Given the description of an element on the screen output the (x, y) to click on. 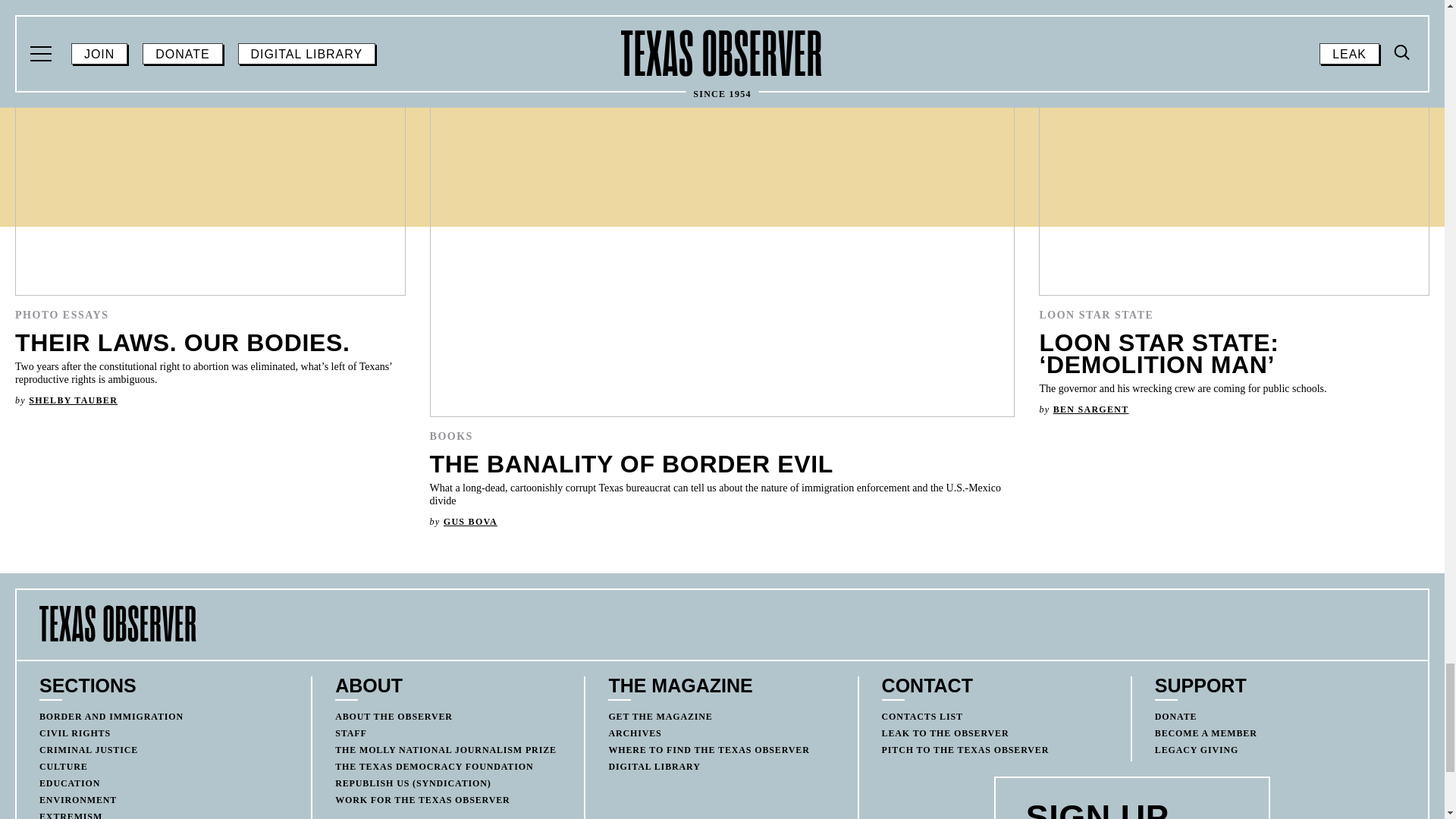
Post by Shelby Tauber (73, 399)
Post by Ben Sargent (1090, 409)
Post by Gus Bova (470, 521)
